Given the description of an element on the screen output the (x, y) to click on. 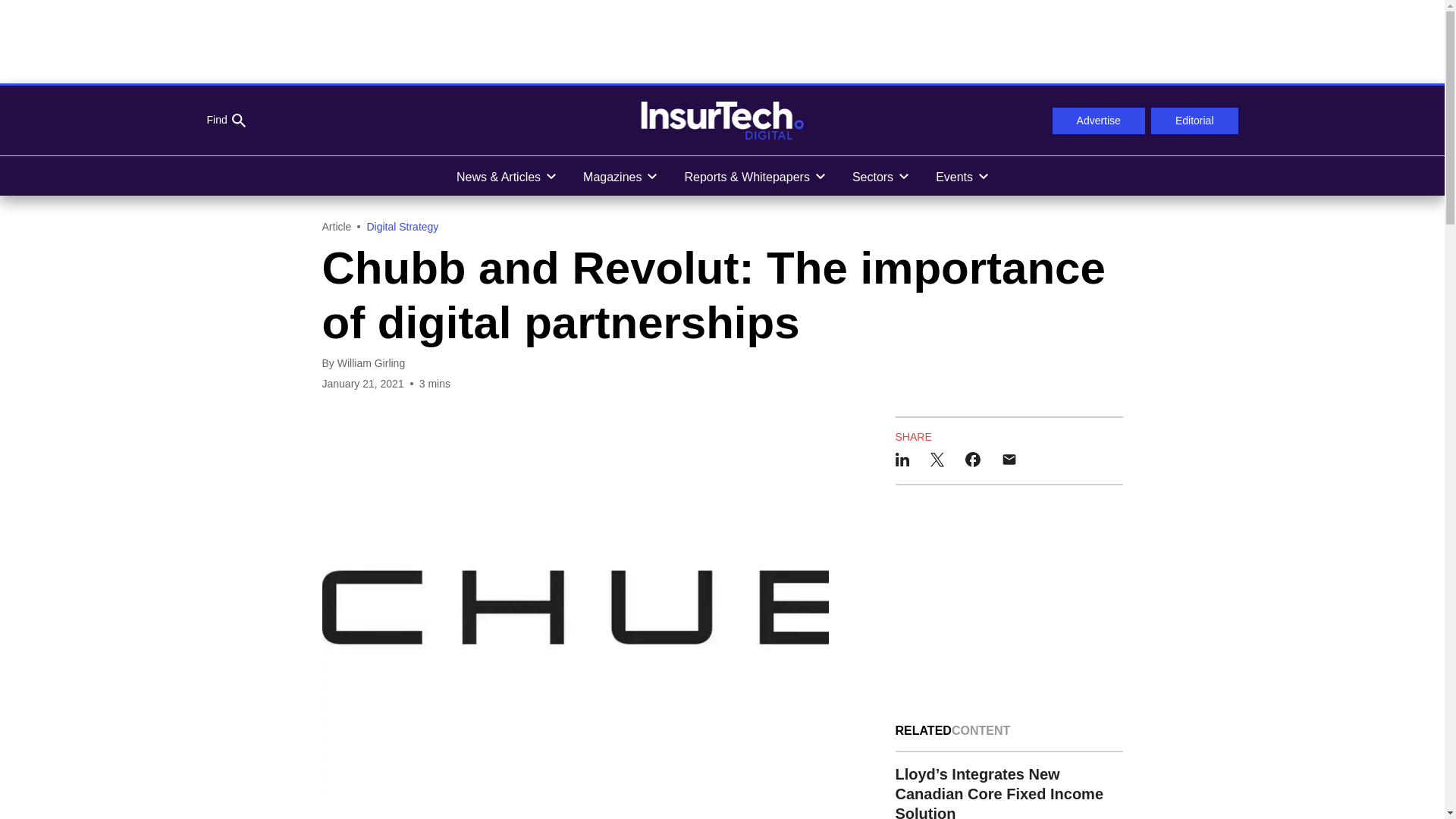
Editorial (1195, 121)
Sectors (879, 175)
Advertise (1098, 121)
Magazines (619, 175)
Find (225, 120)
Events (961, 175)
